Given the description of an element on the screen output the (x, y) to click on. 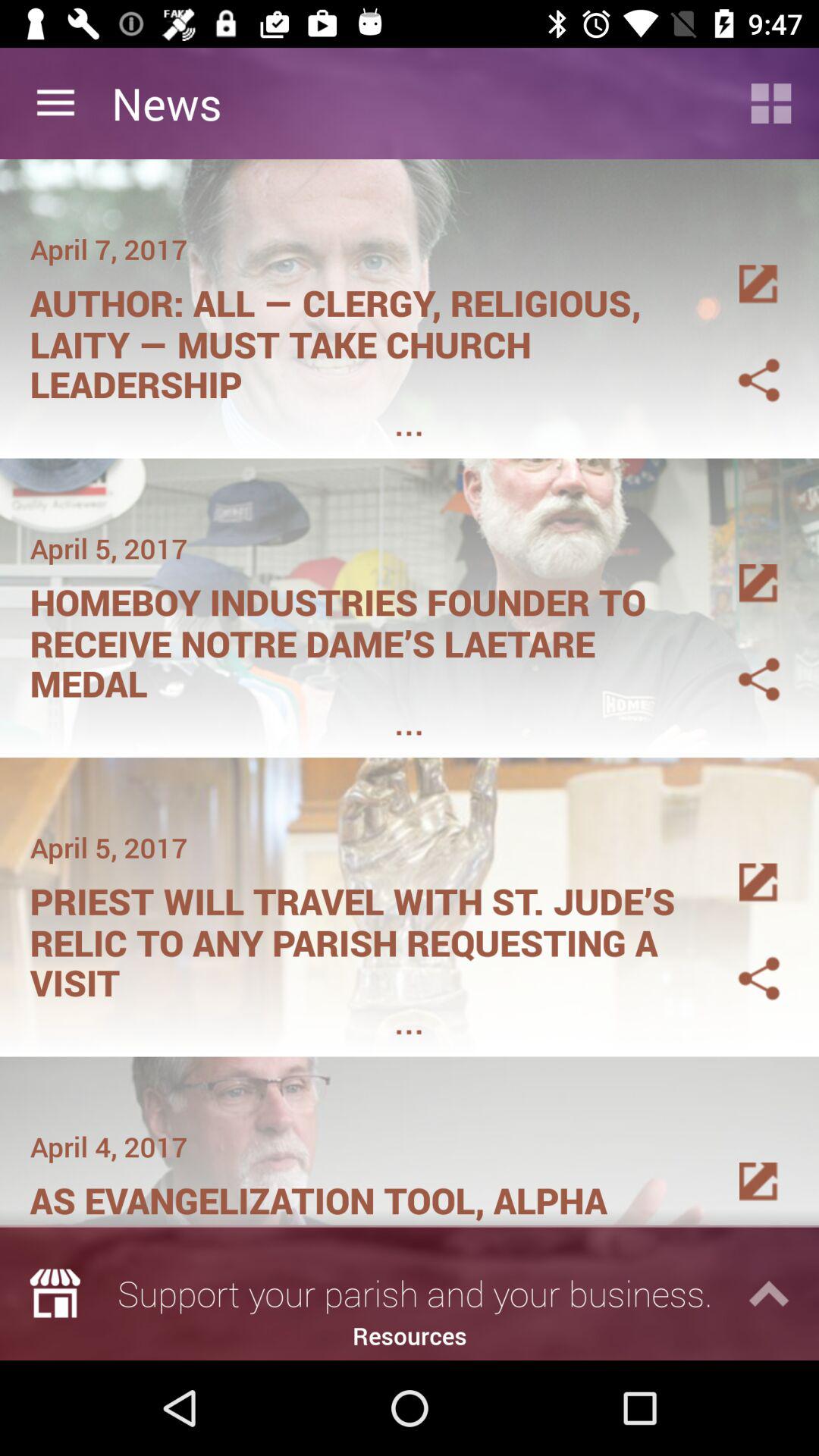
application (771, 103)
